Given the description of an element on the screen output the (x, y) to click on. 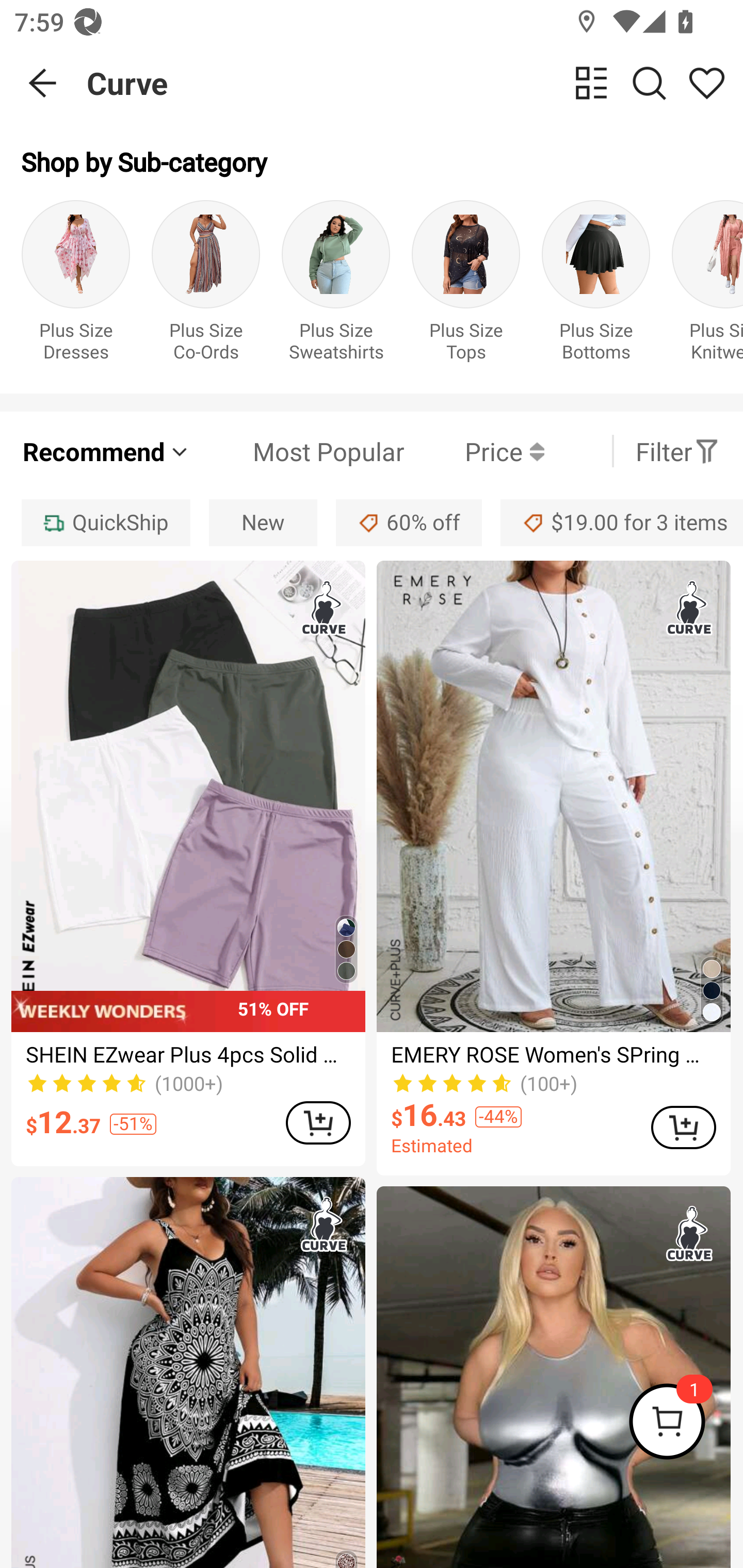
Curve change view Search Share (414, 82)
change view (591, 82)
Search (648, 82)
Share (706, 82)
Plus Size Dresses (75, 285)
Plus Size Co-Ords (205, 285)
Plus Size Sweatshirts (335, 285)
Plus Size Tops (465, 285)
Plus Size Bottoms (595, 285)
Plus Size Knitwear (707, 285)
Recommend (106, 450)
Most Popular (297, 450)
Price (474, 450)
Filter (677, 450)
QuickShip (105, 521)
New (262, 521)
60% off (408, 521)
$19.00 for 3 items (621, 521)
ADD TO CART (318, 1122)
ADD TO CART (683, 1127)
Plus Mandala Print Cami Dress (188, 1372)
